Given the description of an element on the screen output the (x, y) to click on. 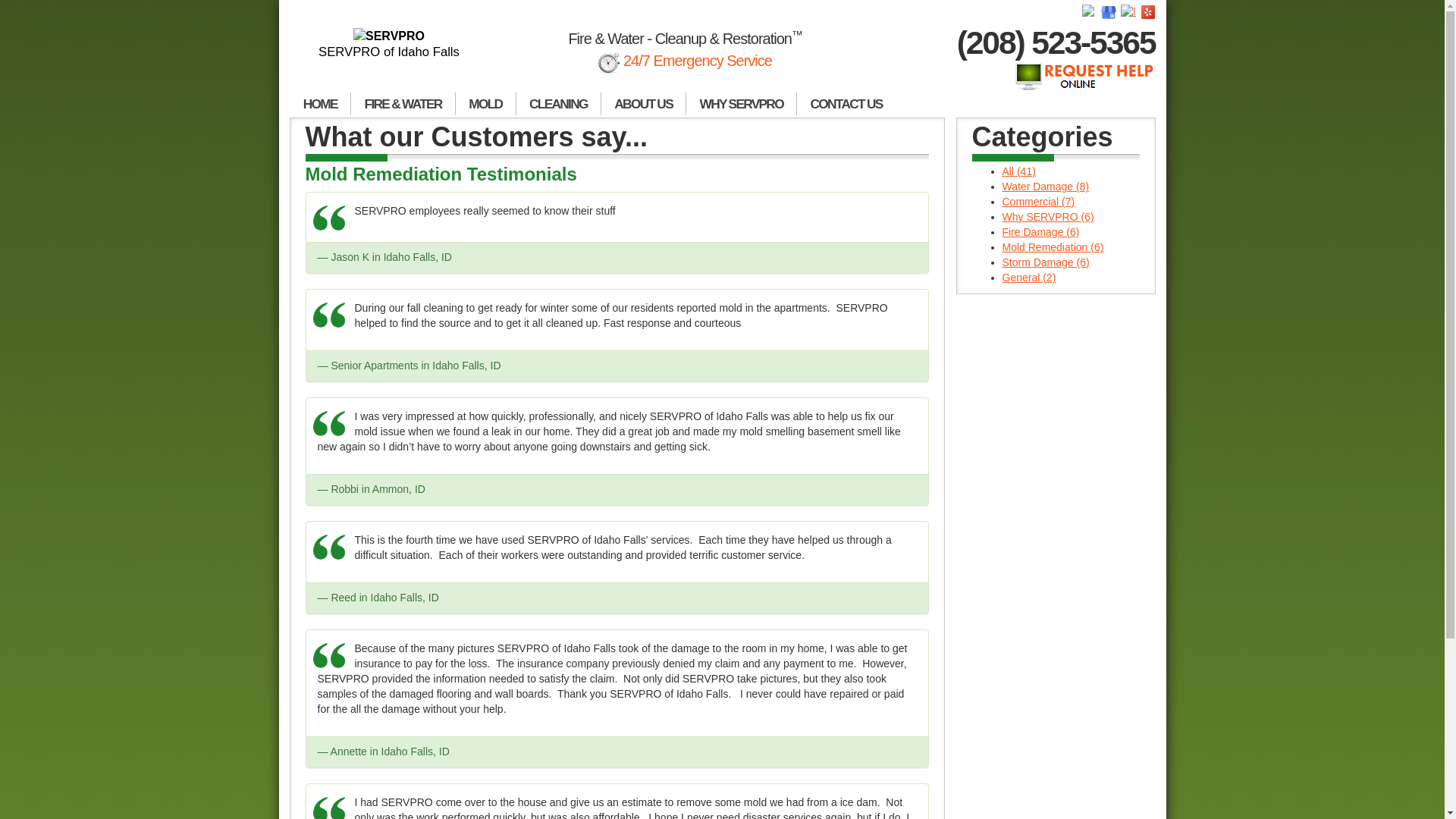
MOLD (485, 104)
CLEANING (558, 104)
HOME (319, 104)
ABOUT US (643, 104)
SERVPRO of Idaho Falls (389, 44)
